Given the description of an element on the screen output the (x, y) to click on. 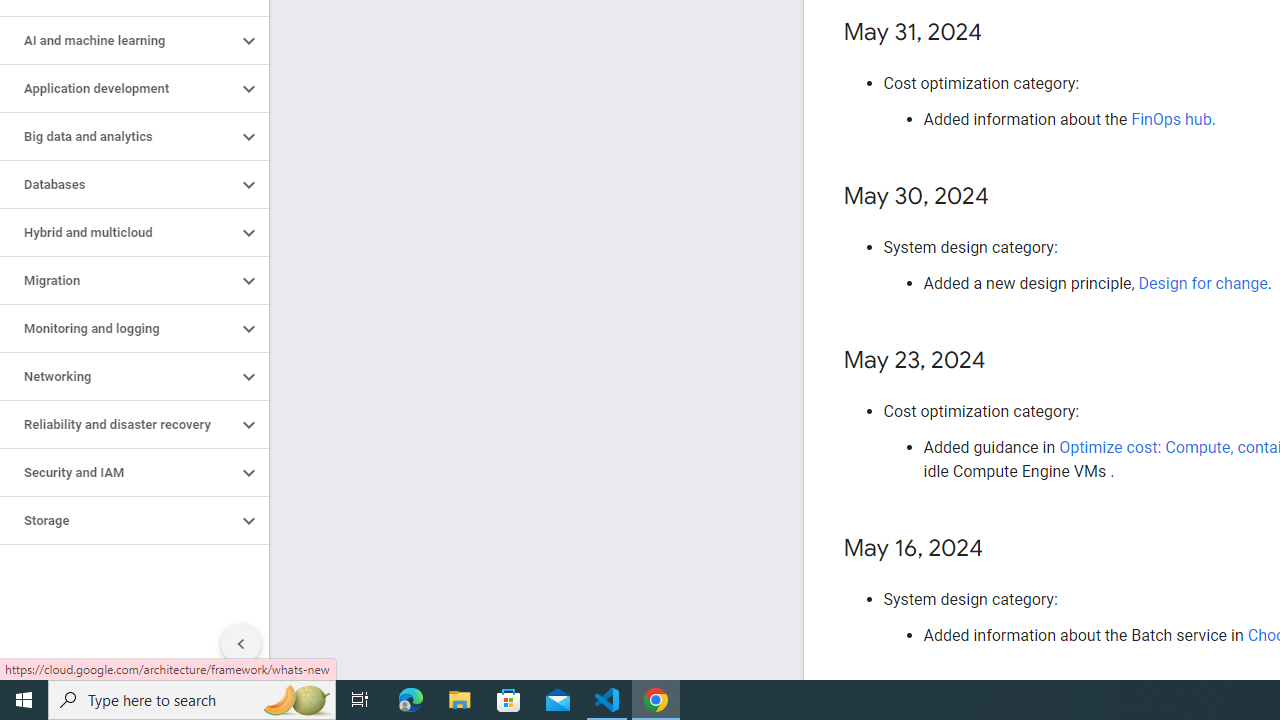
FinOps hub (1171, 119)
Monitoring and logging (118, 328)
Reliability and disaster recovery (118, 425)
Copy link to this section: May 23, 2024 (1005, 361)
Copy link to this section: May 30, 2024 (1008, 197)
Big data and analytics (118, 137)
Application development (118, 88)
Hybrid and multicloud (118, 232)
Databases (118, 184)
Copy link to this section: May 16, 2024 (1003, 549)
Design for change (1202, 283)
AI and machine learning (118, 40)
Copy link to this section: May 31, 2024 (1001, 33)
Migration (118, 281)
